Given the description of an element on the screen output the (x, y) to click on. 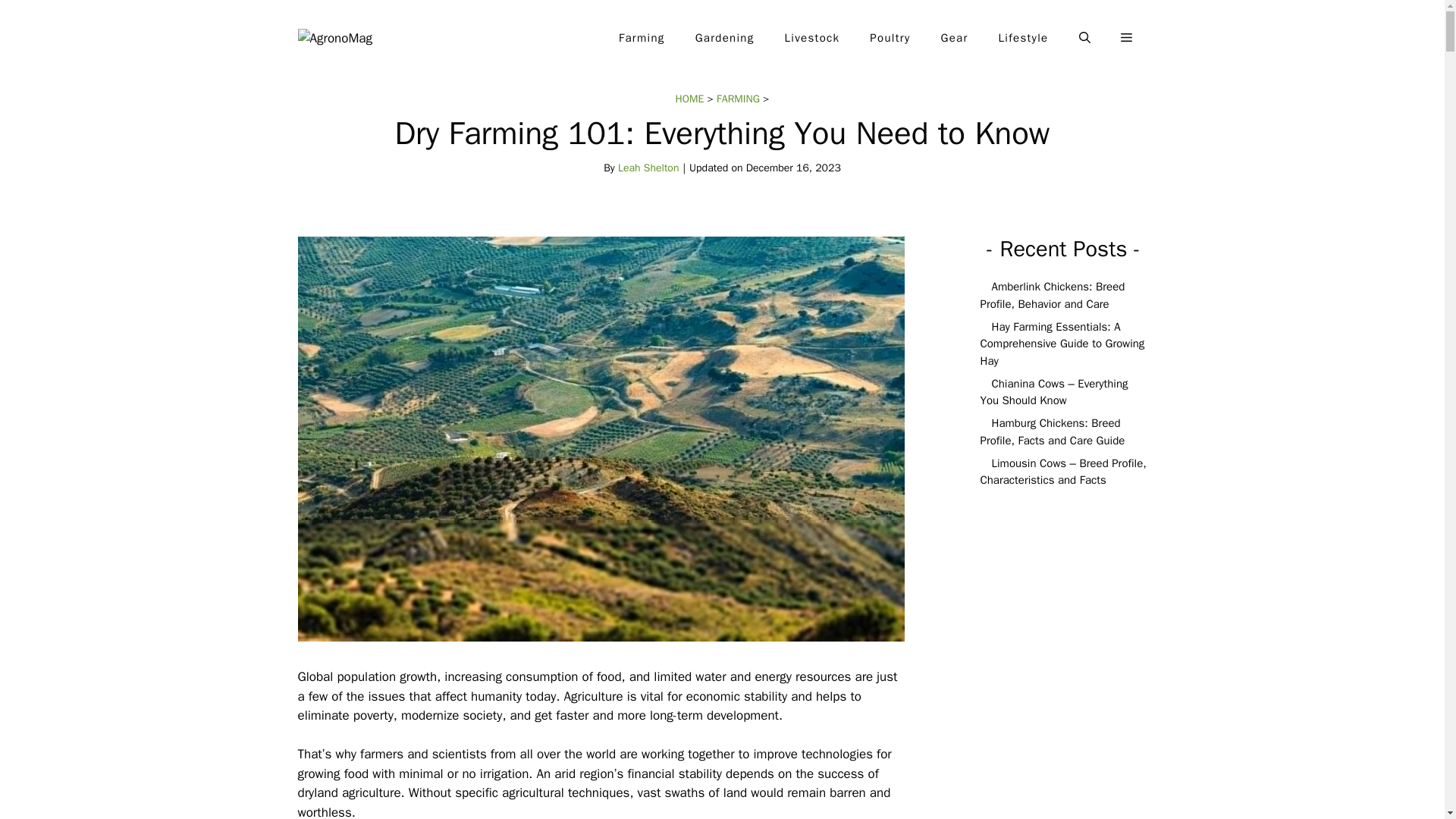
FARMING (738, 98)
Leah Shelton (648, 167)
Lifestyle (1024, 37)
Poultry (889, 37)
Livestock (813, 37)
Farming (641, 37)
Gardening (724, 37)
Gear (953, 37)
HOME (689, 98)
